Given the description of an element on the screen output the (x, y) to click on. 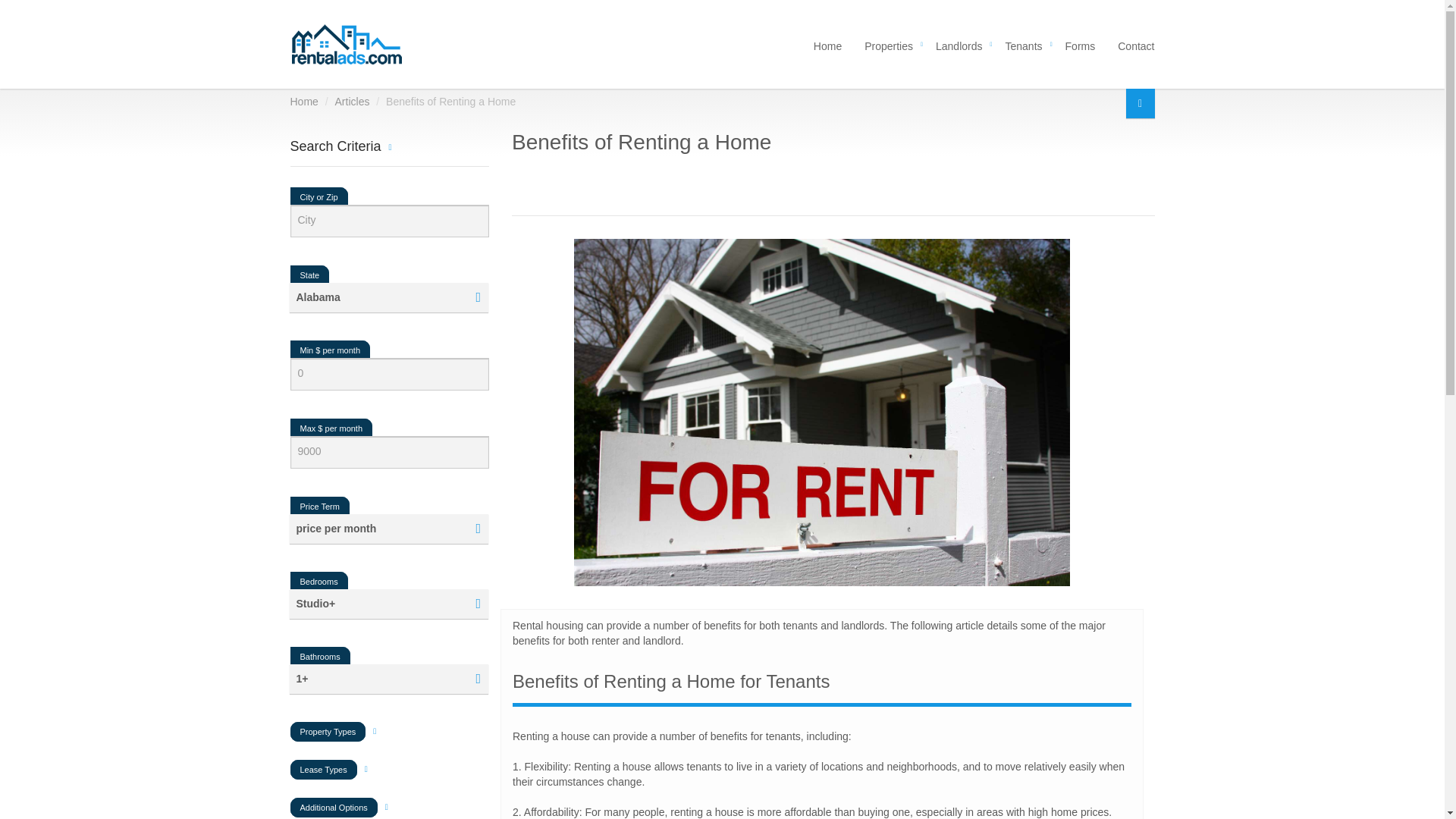
Contact (1130, 44)
Forms (1080, 44)
Properties (888, 44)
price per month (389, 528)
RentalAds.com (346, 44)
Tenants (1024, 44)
Home (827, 44)
Articles (389, 297)
Landlords (351, 101)
Alabama (959, 44)
Home (389, 297)
